Given the description of an element on the screen output the (x, y) to click on. 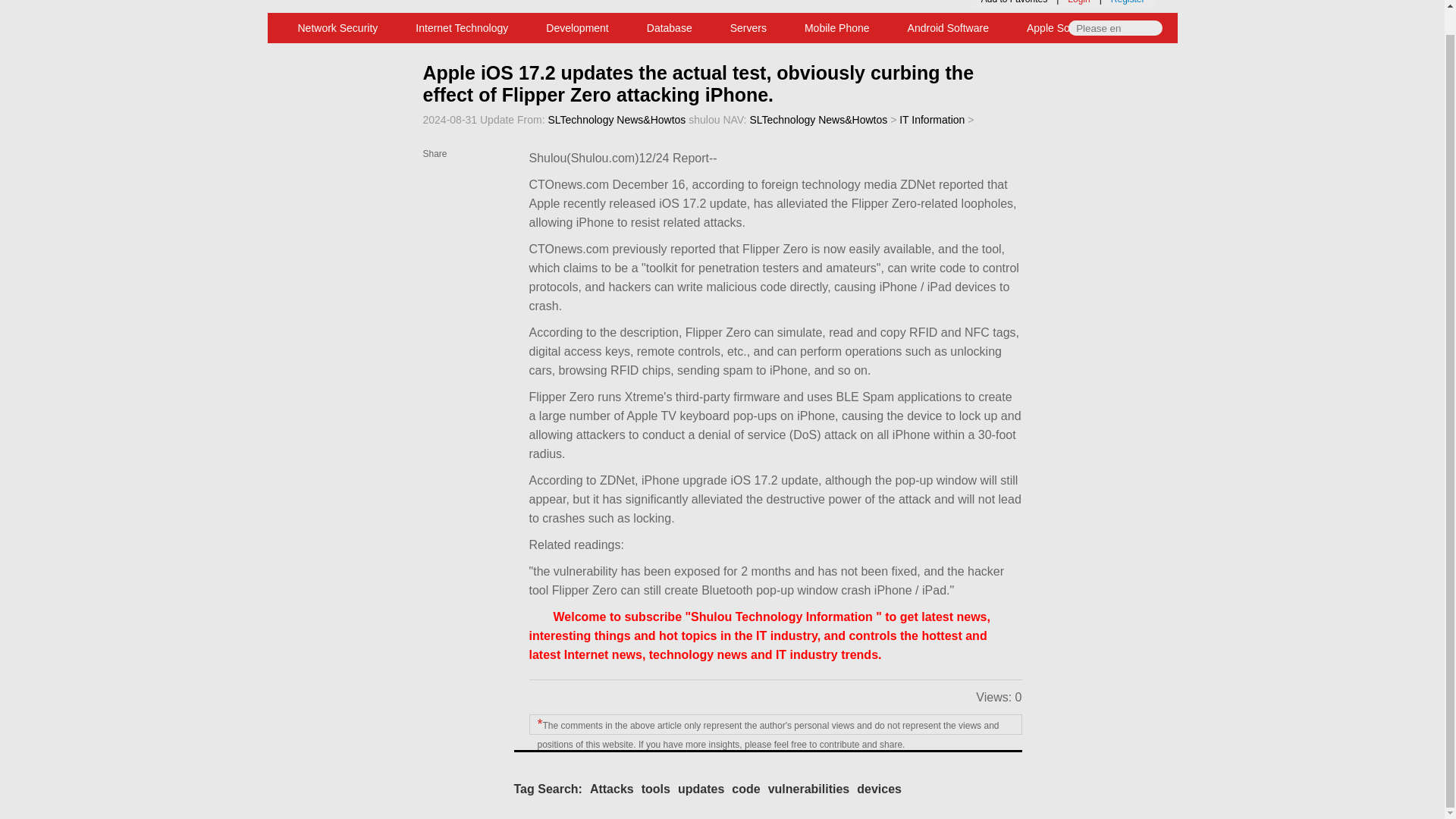
Android Software (947, 28)
Network Security (338, 28)
Internet Technology (461, 28)
Mobile Phone (837, 28)
Login (1078, 2)
Android Software (947, 28)
Apple Software (1062, 28)
Register (1127, 2)
Internet Technology (461, 28)
Servers (748, 28)
